Given the description of an element on the screen output the (x, y) to click on. 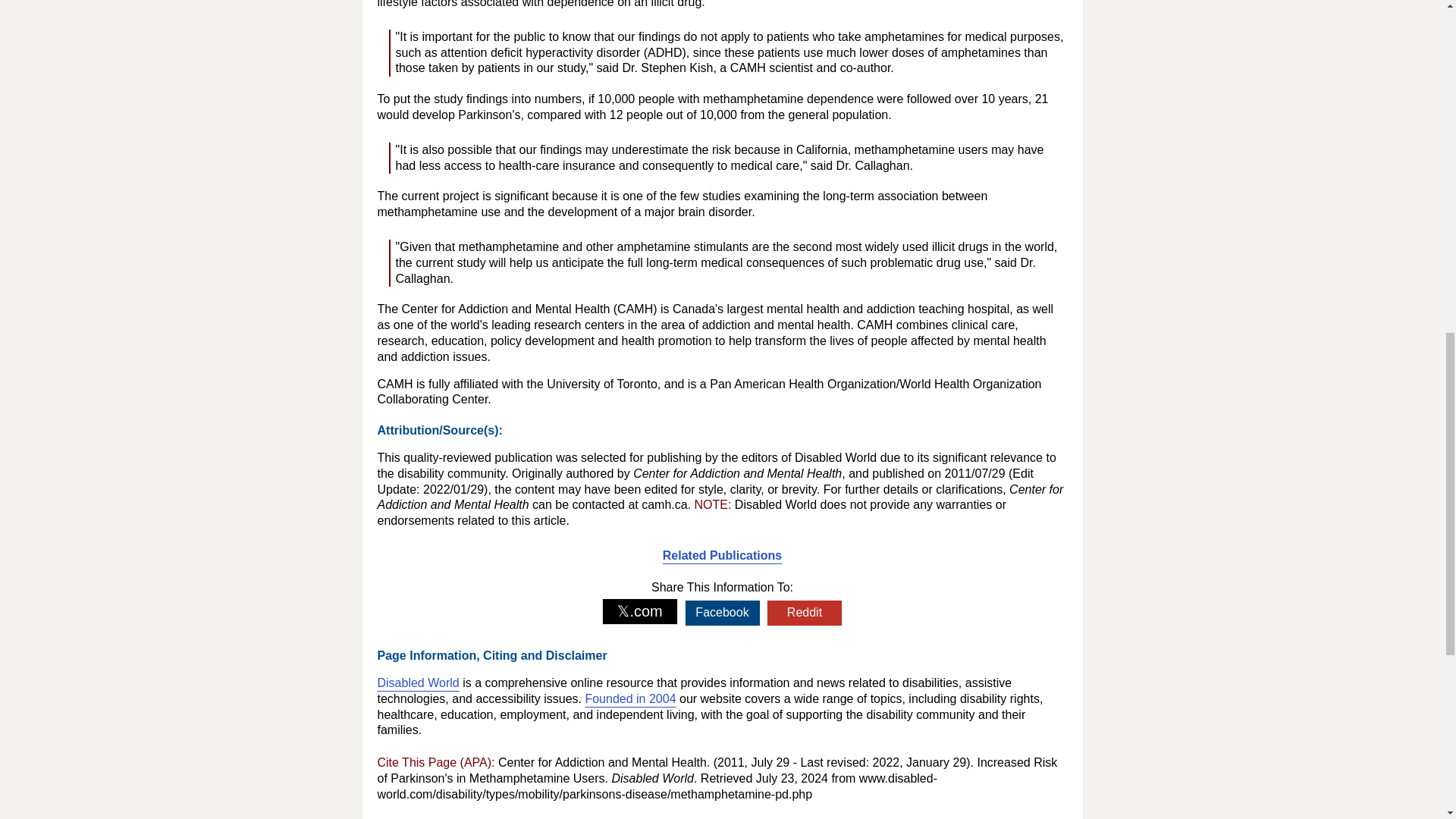
Disabled World (418, 682)
Share on X (640, 611)
Founded in 2004 (630, 698)
